Given the description of an element on the screen output the (x, y) to click on. 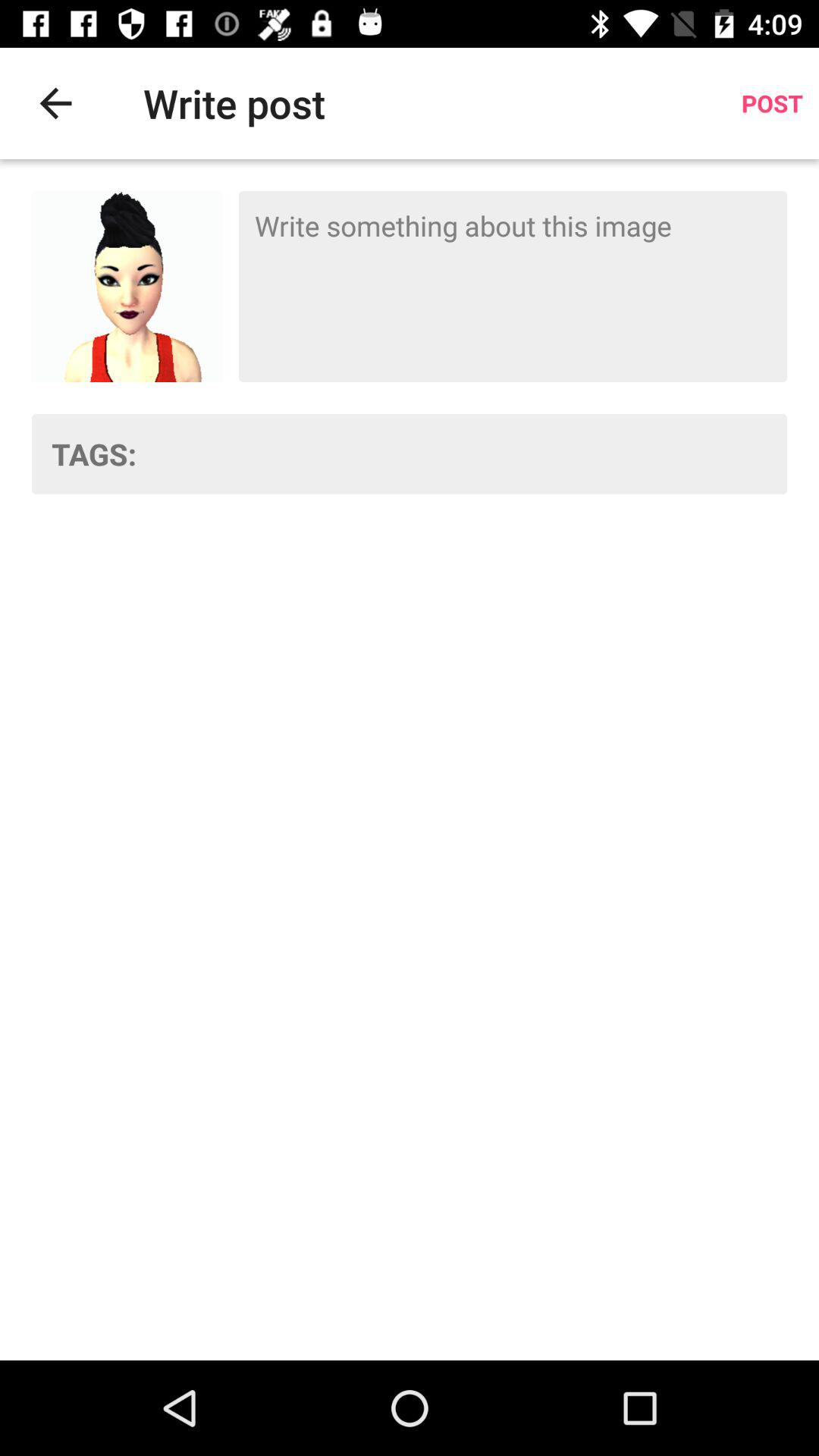
insert best words who describe your photo (471, 454)
